Given the description of an element on the screen output the (x, y) to click on. 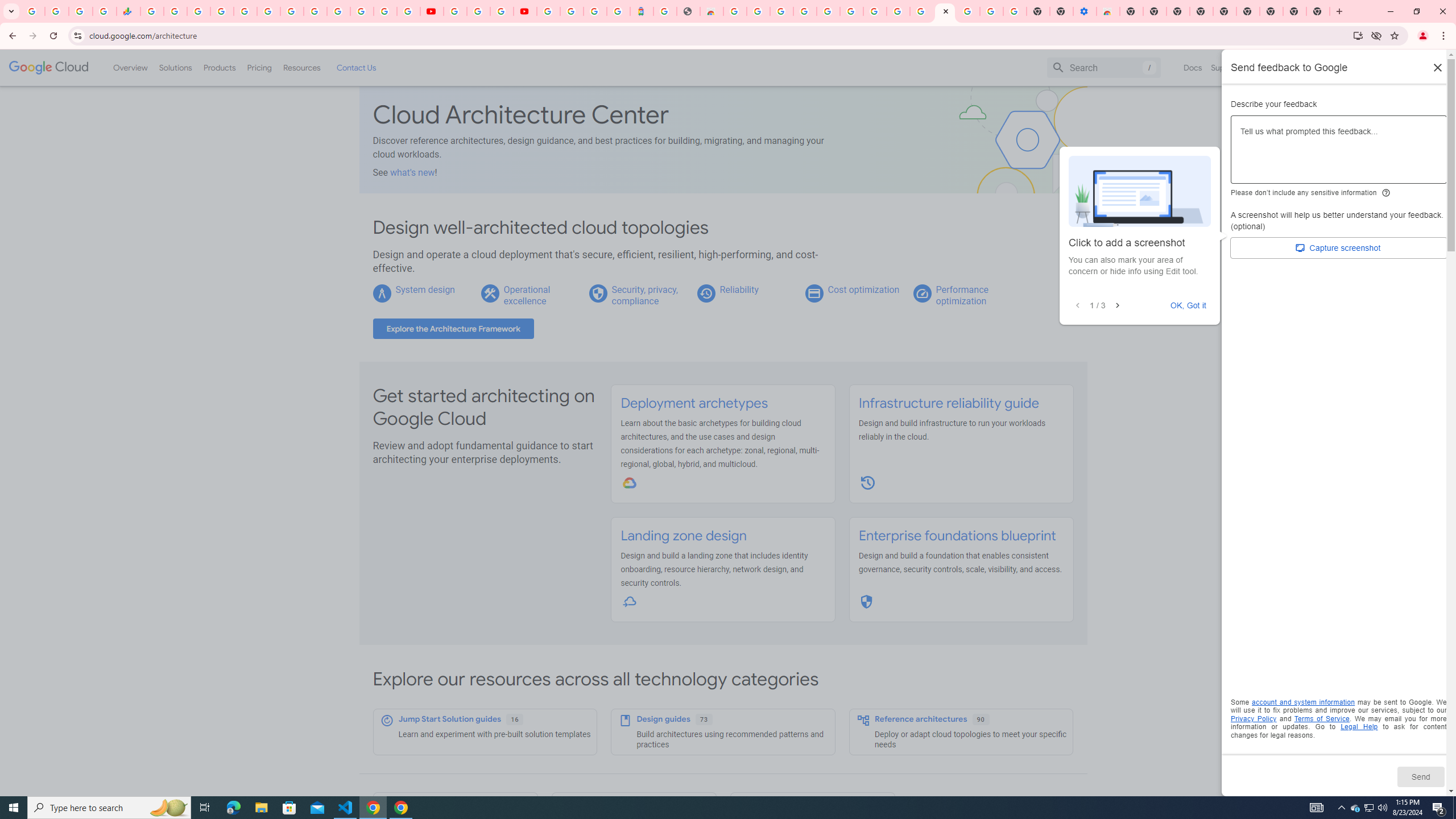
Next (1117, 305)
System design (424, 289)
Android TV Policies and Guidelines - Transparency Center (291, 11)
Content Creator Programs & Opportunities - YouTube Creators (524, 11)
YouTube (454, 11)
Google Cloud (48, 67)
Google Account Help (850, 11)
